Given the description of an element on the screen output the (x, y) to click on. 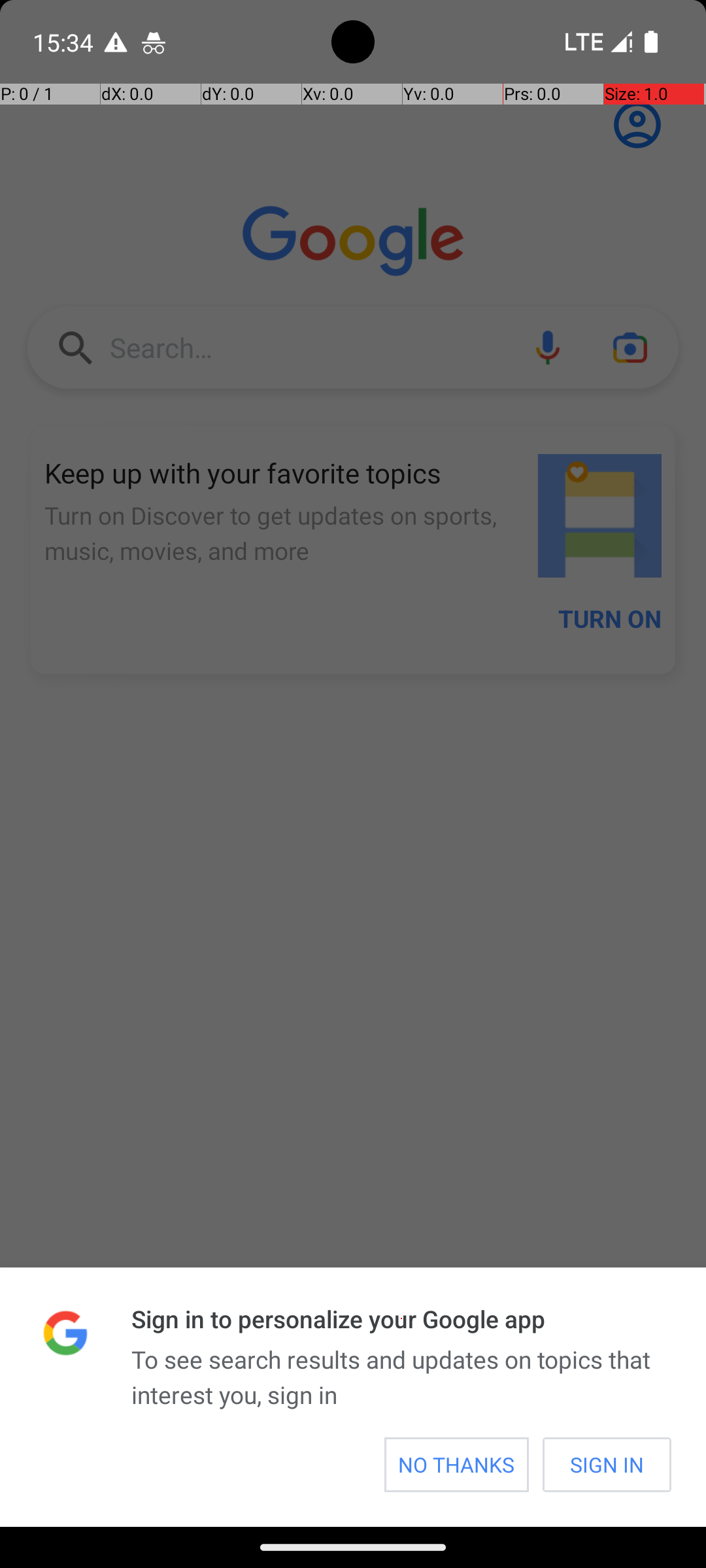
Sign in to personalize your Google app Element type: android.widget.TextView (401, 1318)
To see search results and updates on topics that interest you, sign in Element type: android.widget.TextView (401, 1376)
NO THANKS Element type: android.widget.TextView (456, 1464)
SIGN IN Element type: android.widget.TextView (606, 1464)
